Given the description of an element on the screen output the (x, y) to click on. 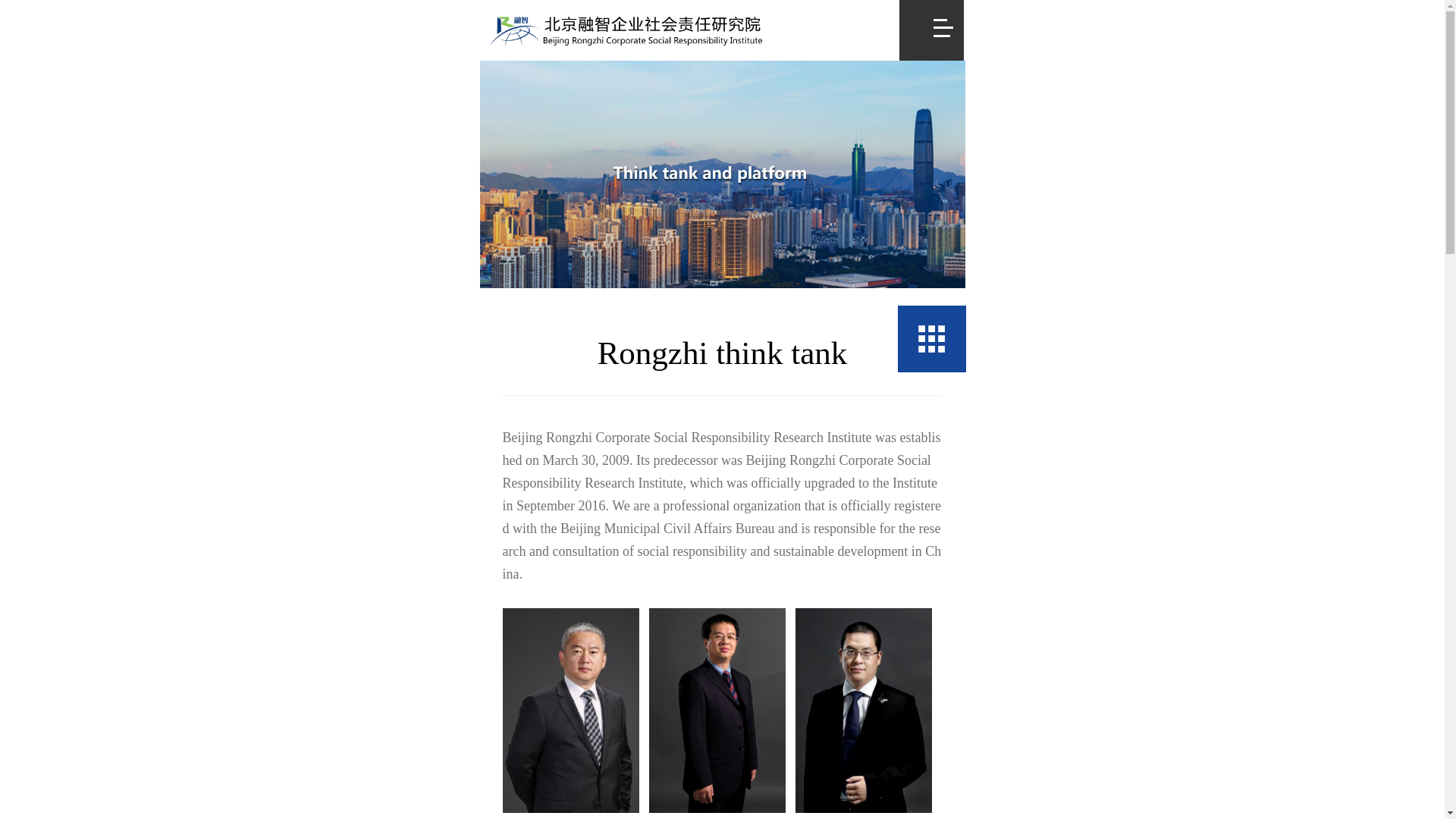
undefined (932, 338)
